Given the description of an element on the screen output the (x, y) to click on. 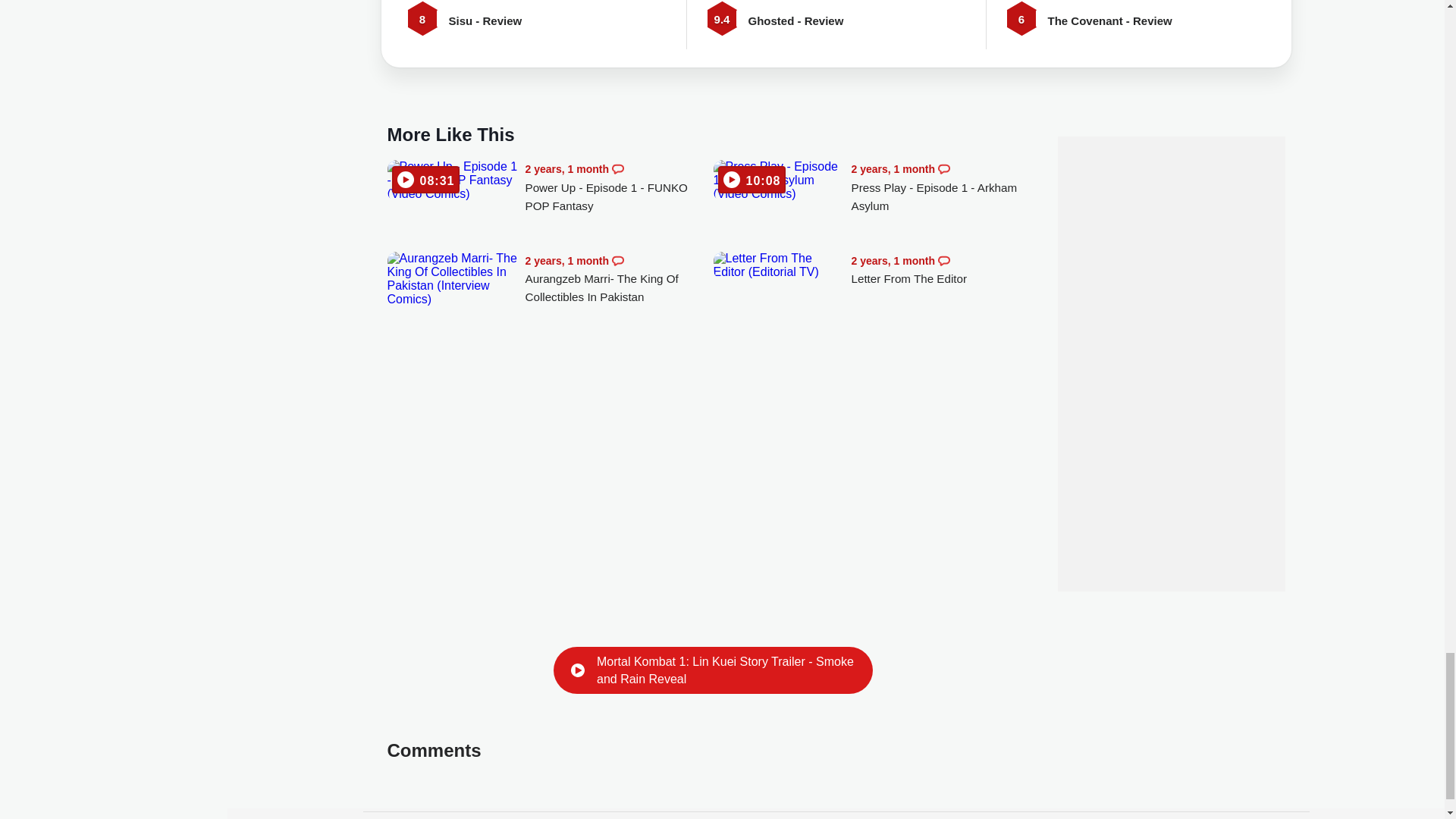
Letter From The Editor (944, 270)
Power Up - Episode 1 - FUNKO POP Fantasy (451, 179)
Aurangzeb Marri- The King Of Collectibles In Pakistan (451, 278)
Comments (617, 168)
Press Play  - Episode 1 - Arkham Asylum (944, 187)
Power Up - Episode 1 - FUNKO POP Fantasy (618, 187)
Aurangzeb Marri- The King Of Collectibles In Pakistan (618, 279)
Comments (943, 168)
Press Play  - Episode 1 - Arkham Asylum (778, 179)
Comments (943, 260)
